Given the description of an element on the screen output the (x, y) to click on. 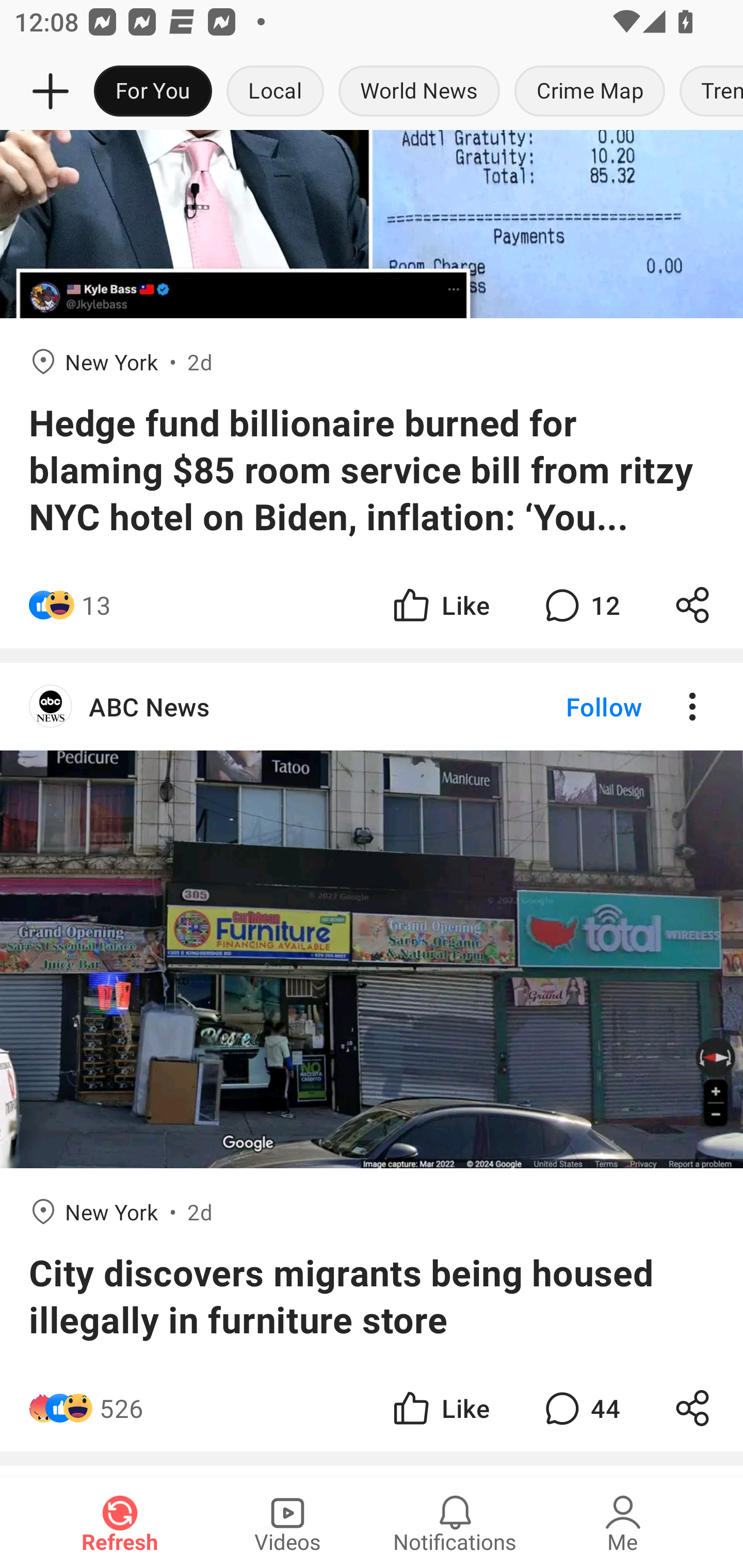
For You (152, 91)
Local (275, 91)
World News (419, 91)
Crime Map (589, 91)
13 (95, 604)
Like (439, 604)
12 (579, 604)
ABC News Follow (371, 707)
Follow (569, 707)
526 (121, 1407)
Like (439, 1407)
44 (579, 1407)
Videos (287, 1522)
Notifications (455, 1522)
Me (622, 1522)
